Given the description of an element on the screen output the (x, y) to click on. 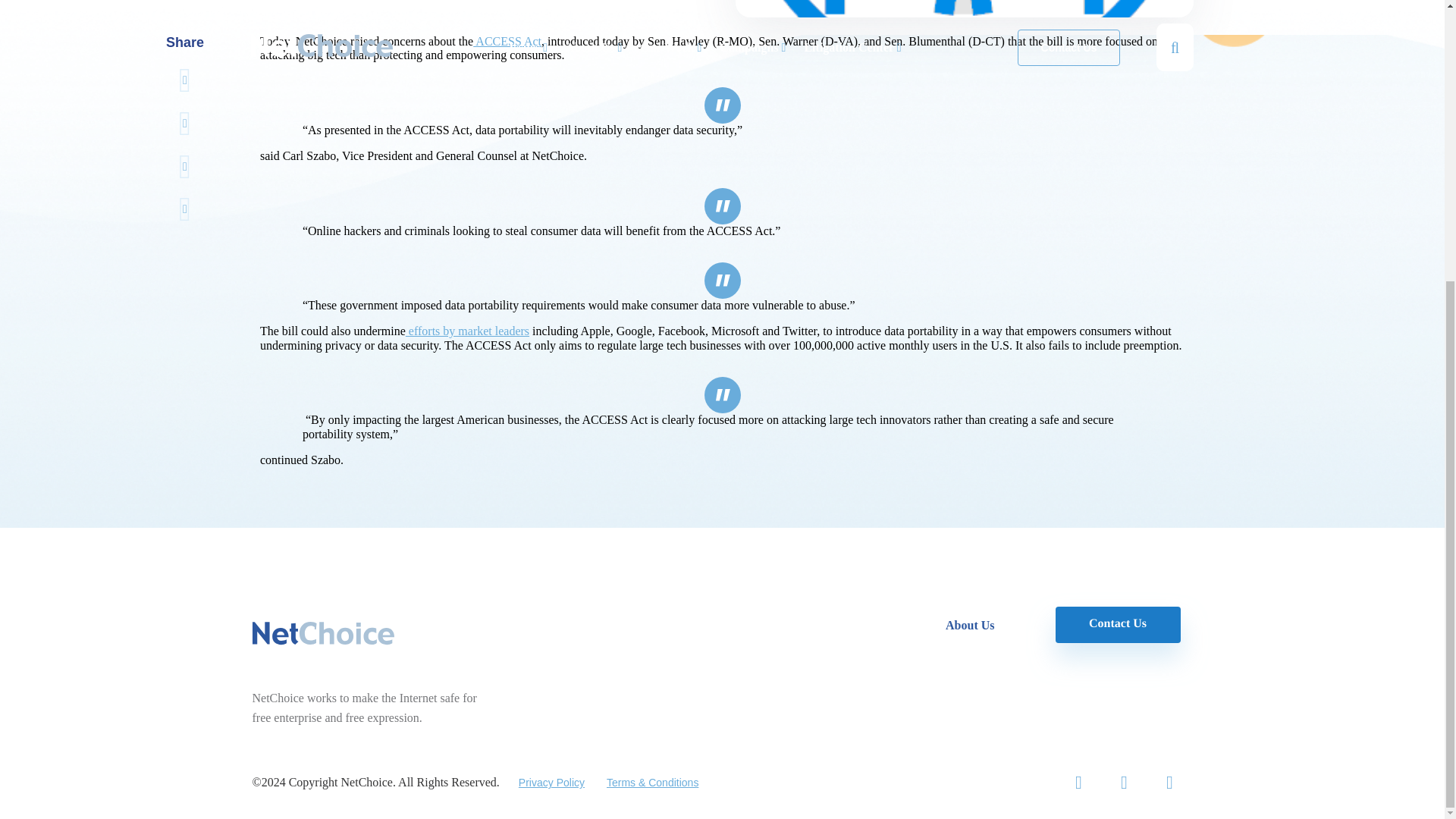
Facebook (1123, 782)
Twitter (1077, 782)
YouTube (1169, 782)
